Given the description of an element on the screen output the (x, y) to click on. 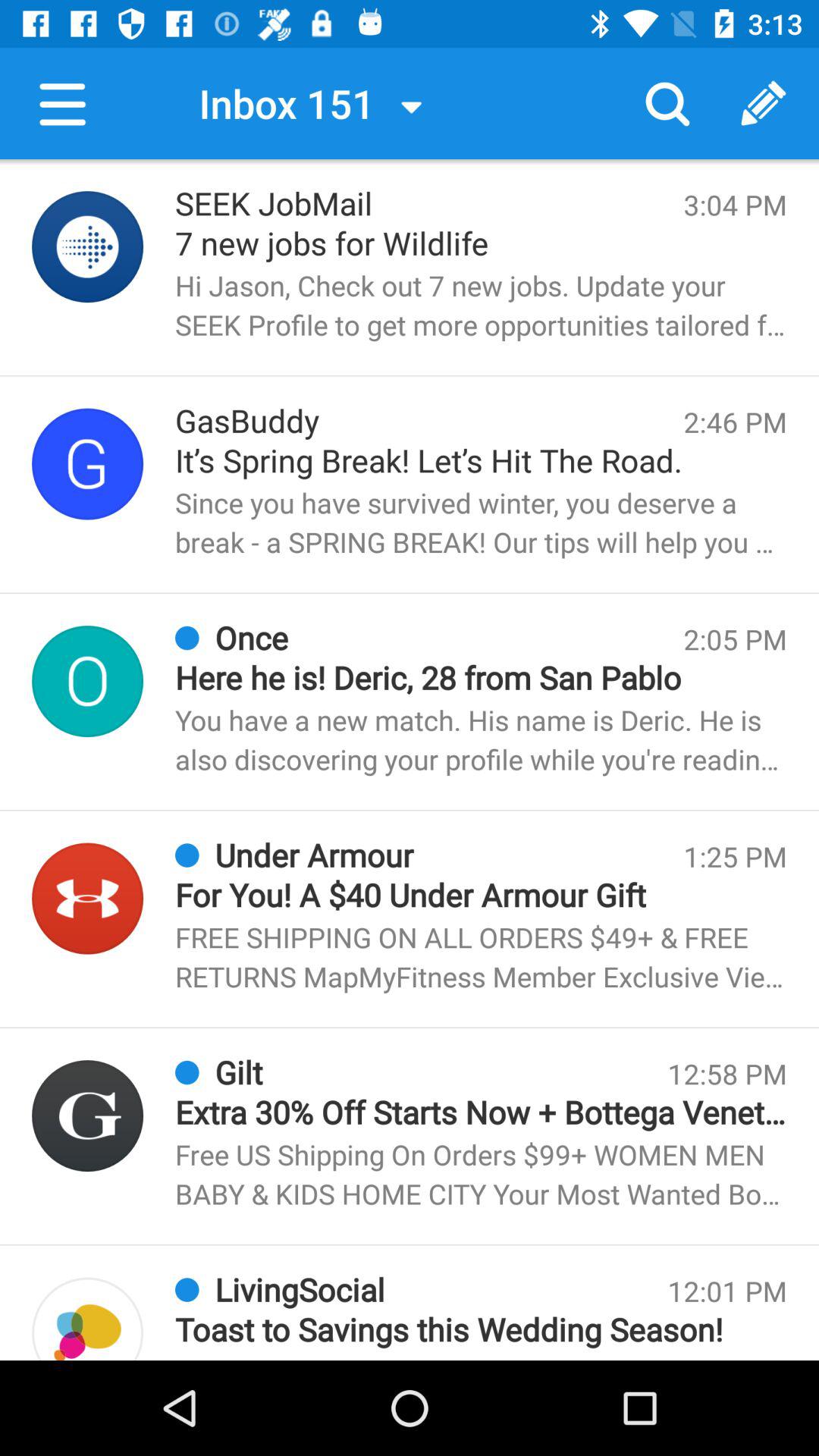
profile picture (87, 898)
